Given the description of an element on the screen output the (x, y) to click on. 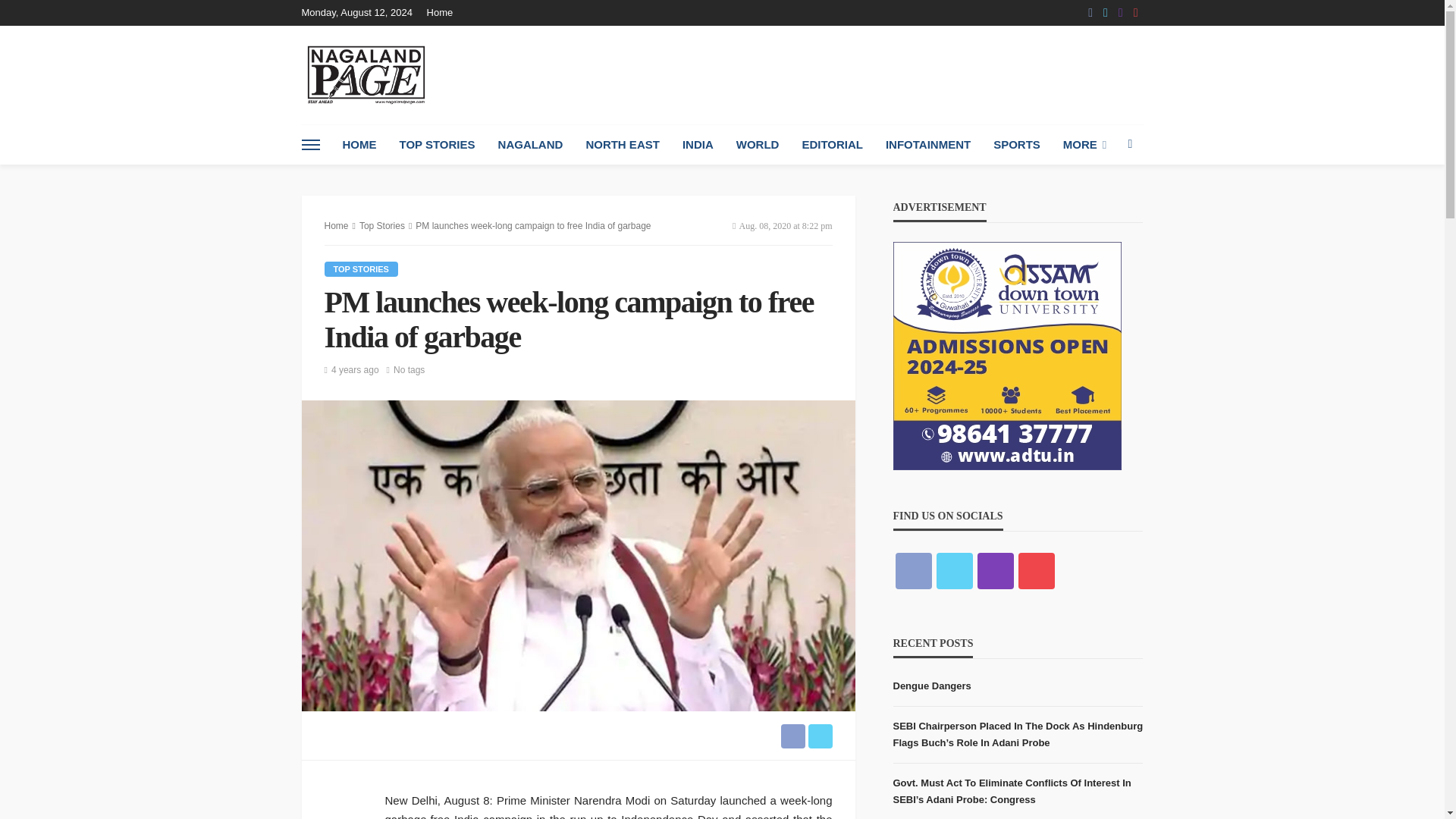
nagaland-page-logo (365, 74)
EDITORIAL (832, 144)
Advertisement (866, 74)
WORLD (757, 144)
NORTH EAST (622, 144)
HOME (358, 144)
Top Stories (360, 268)
MORE (1084, 144)
Home (443, 12)
TOP STORIES (437, 144)
